Given the description of an element on the screen output the (x, y) to click on. 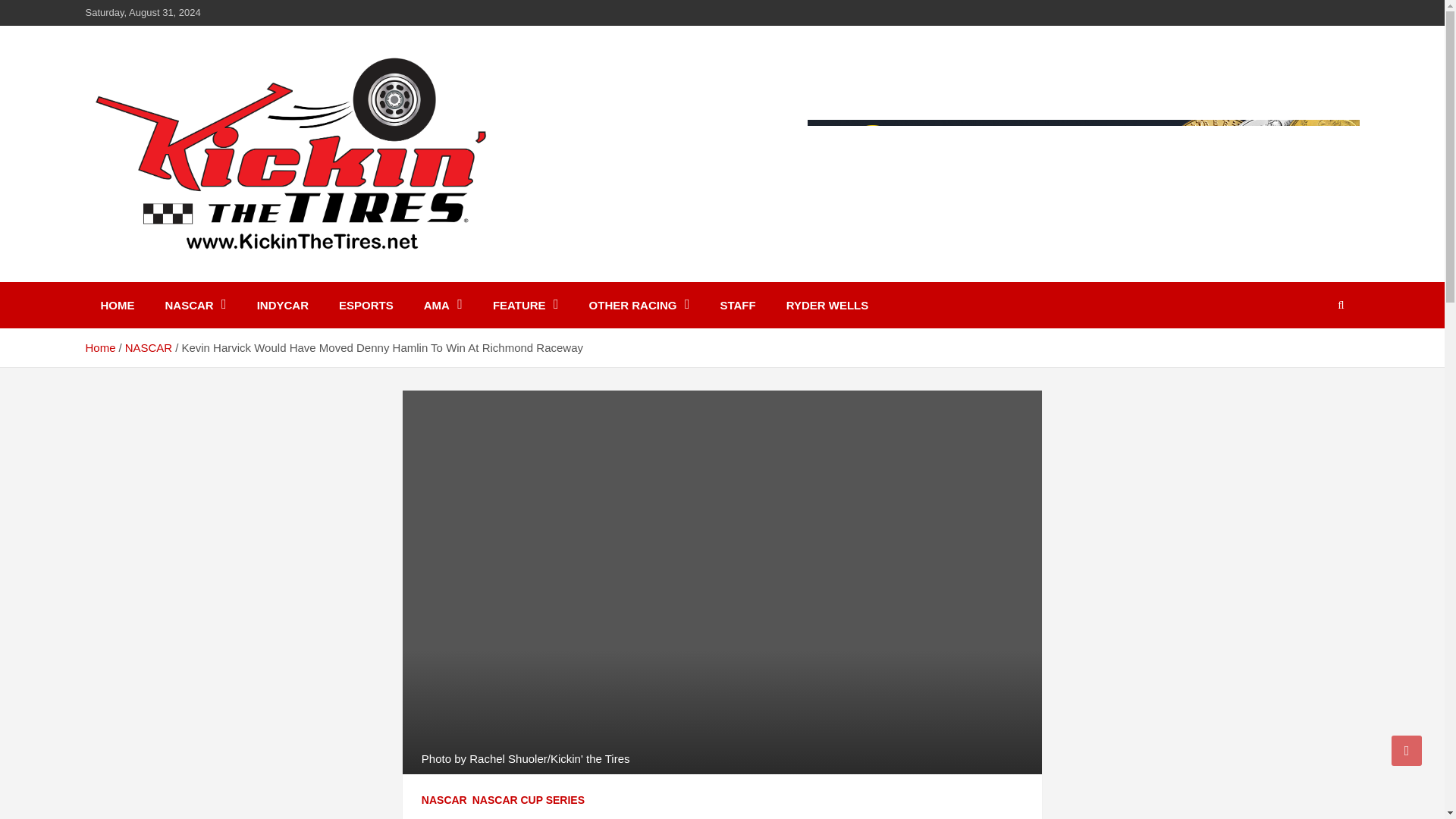
OTHER RACING (638, 304)
NASCAR (444, 800)
ESPORTS (366, 304)
Kickin' the Tires (200, 271)
Home (99, 347)
HOME (116, 304)
RYDER WELLS (827, 304)
NASCAR (149, 347)
NASCAR (195, 304)
STAFF (737, 304)
